Given the description of an element on the screen output the (x, y) to click on. 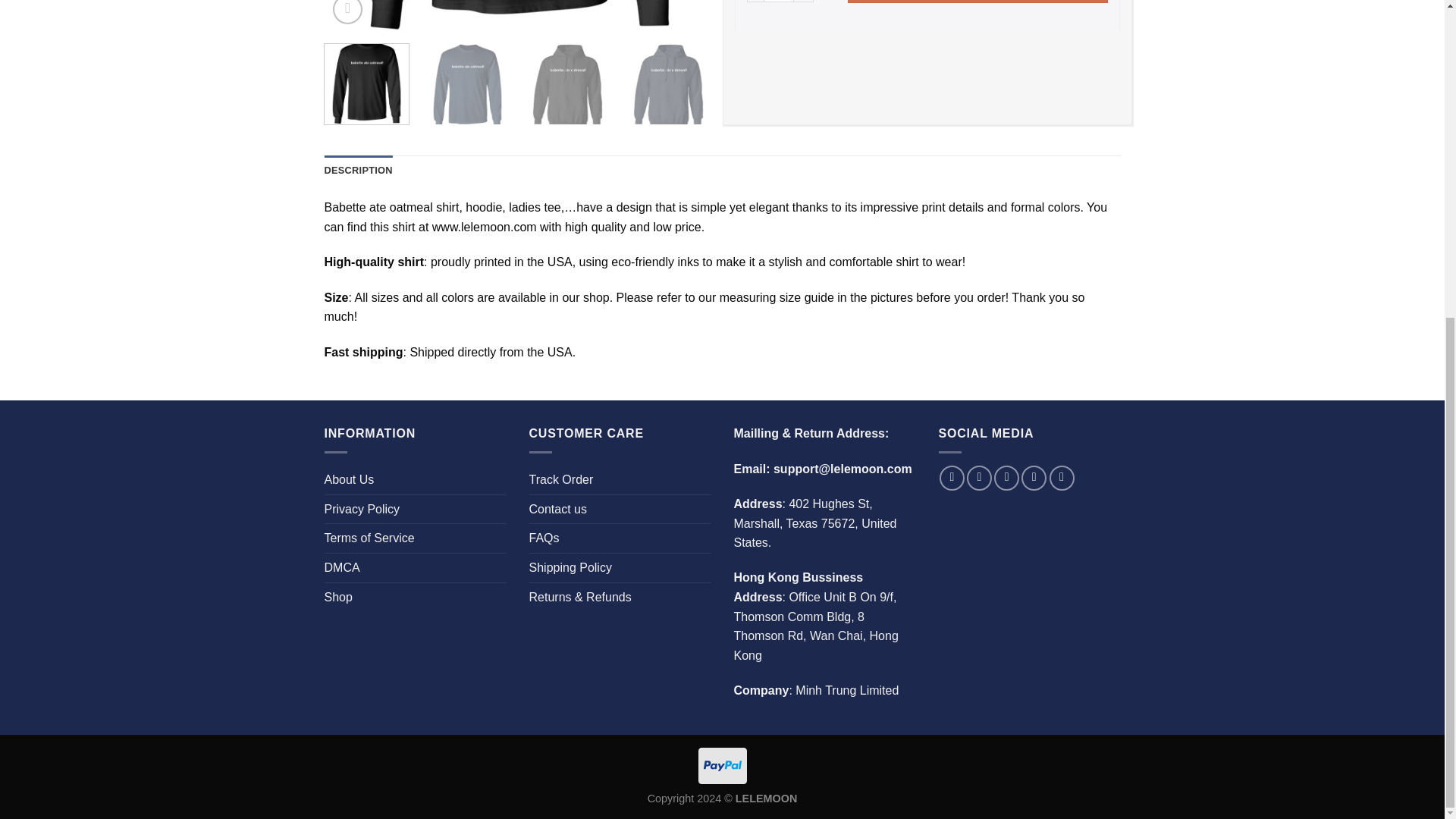
Zoom (347, 12)
Privacy Policy (362, 509)
Babette ate oatmeal shirt (517, 15)
Babette ate oatmeal shirt (668, 85)
Shop (338, 597)
- (753, 1)
About Us (349, 480)
Babette ate oatmeal shirt (969, 85)
Babette ate oatmeal shirt (768, 85)
DESCRIPTION (358, 170)
Babette ate oatmeal shirt (904, 15)
1 (777, 1)
Babette ate oatmeal shirt (567, 85)
Babette ate oatmeal shirt (467, 85)
Babette ate oatmeal shirt (869, 85)
